Given the description of an element on the screen output the (x, y) to click on. 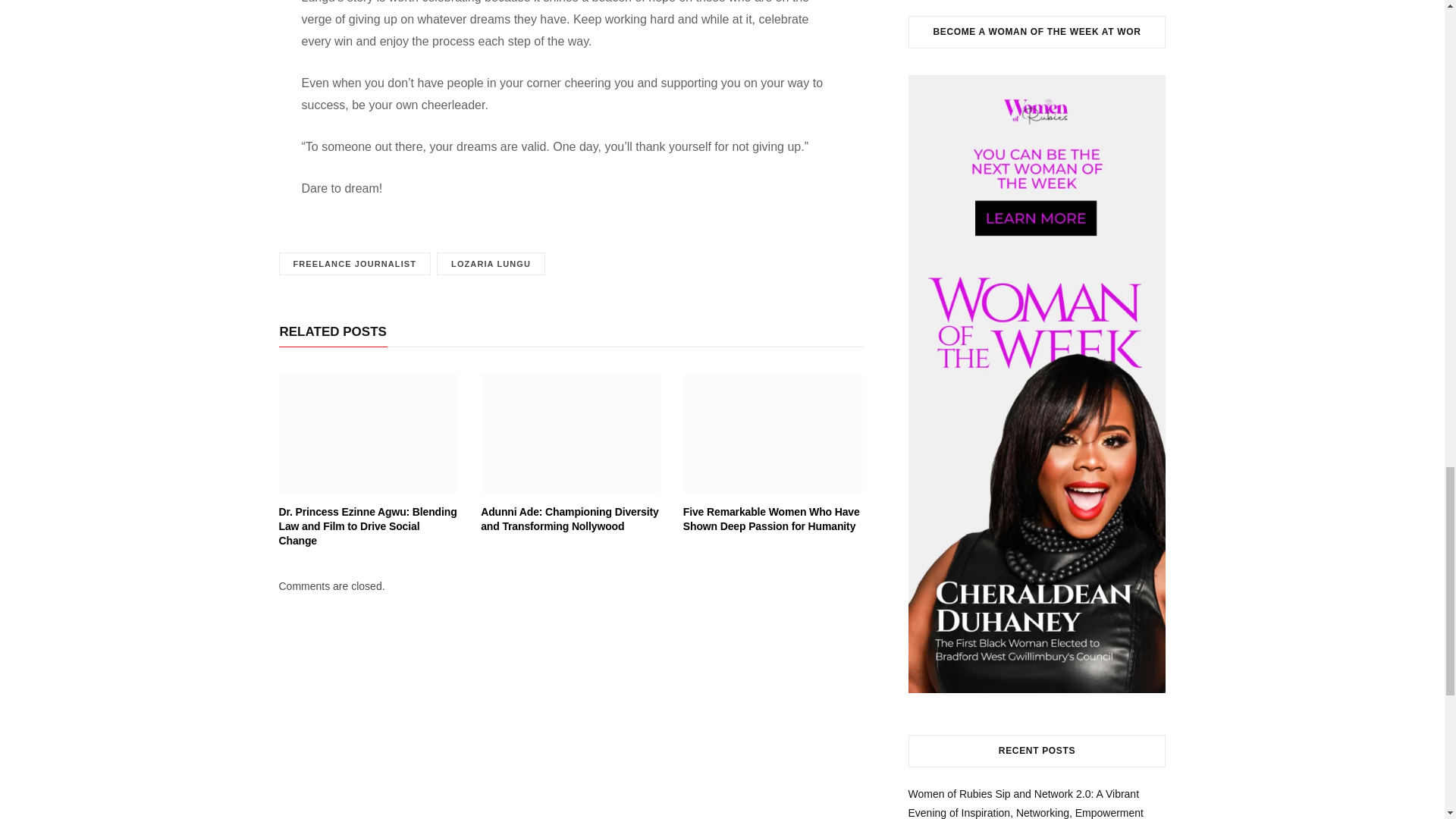
Adunni Ade: Championing Diversity and Transforming Nollywood (569, 519)
LOZARIA LUNGU (490, 264)
FREELANCE JOURNALIST (354, 264)
